Given the description of an element on the screen output the (x, y) to click on. 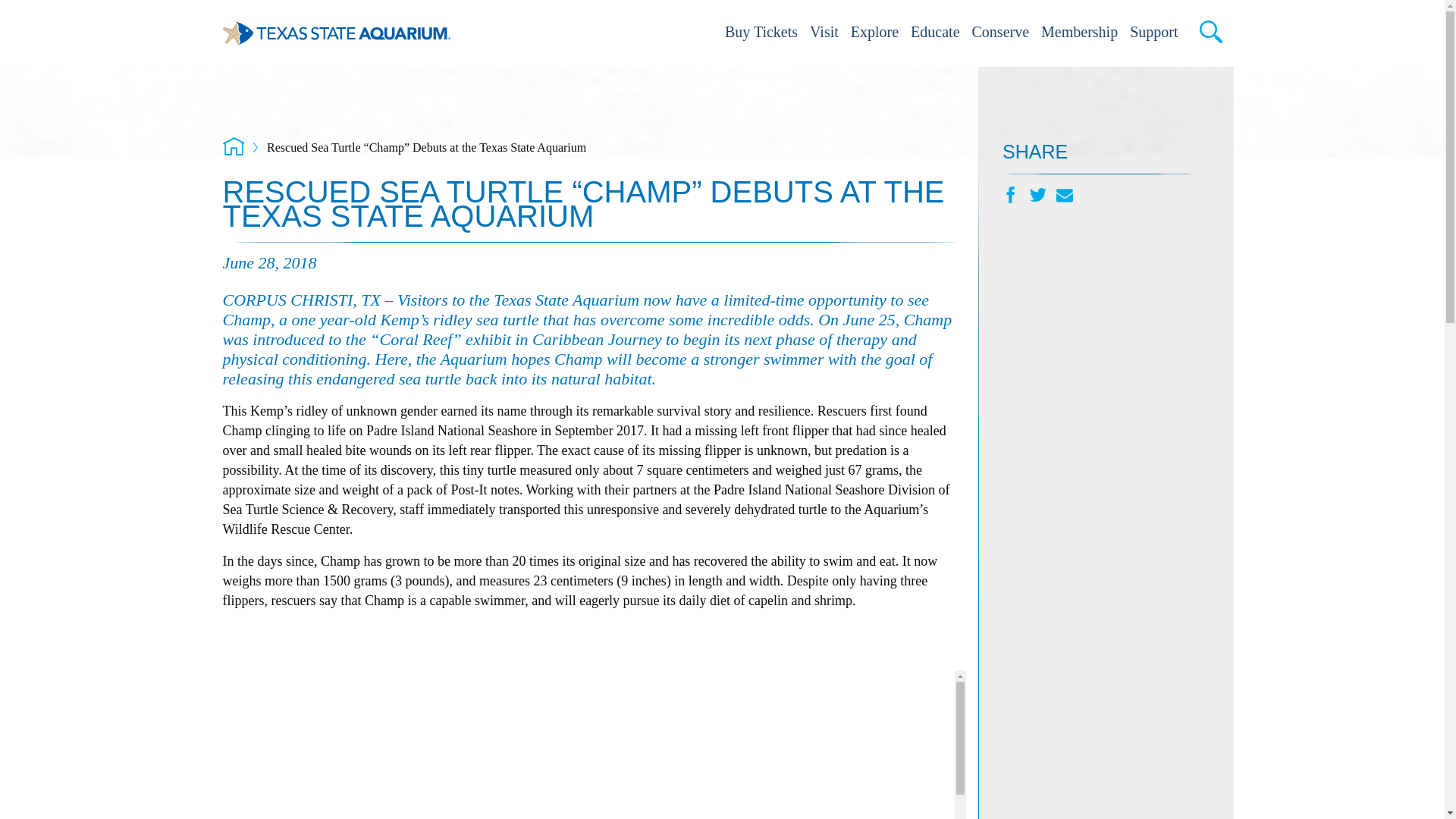
Texas State Aquarium Homepage (335, 33)
Conserve (1000, 33)
Buy Tickets (761, 33)
Texas State Aquarium Logo (335, 33)
Return to Home Page (233, 145)
Educate (934, 33)
Explore (874, 33)
Visit (823, 33)
